Given the description of an element on the screen output the (x, y) to click on. 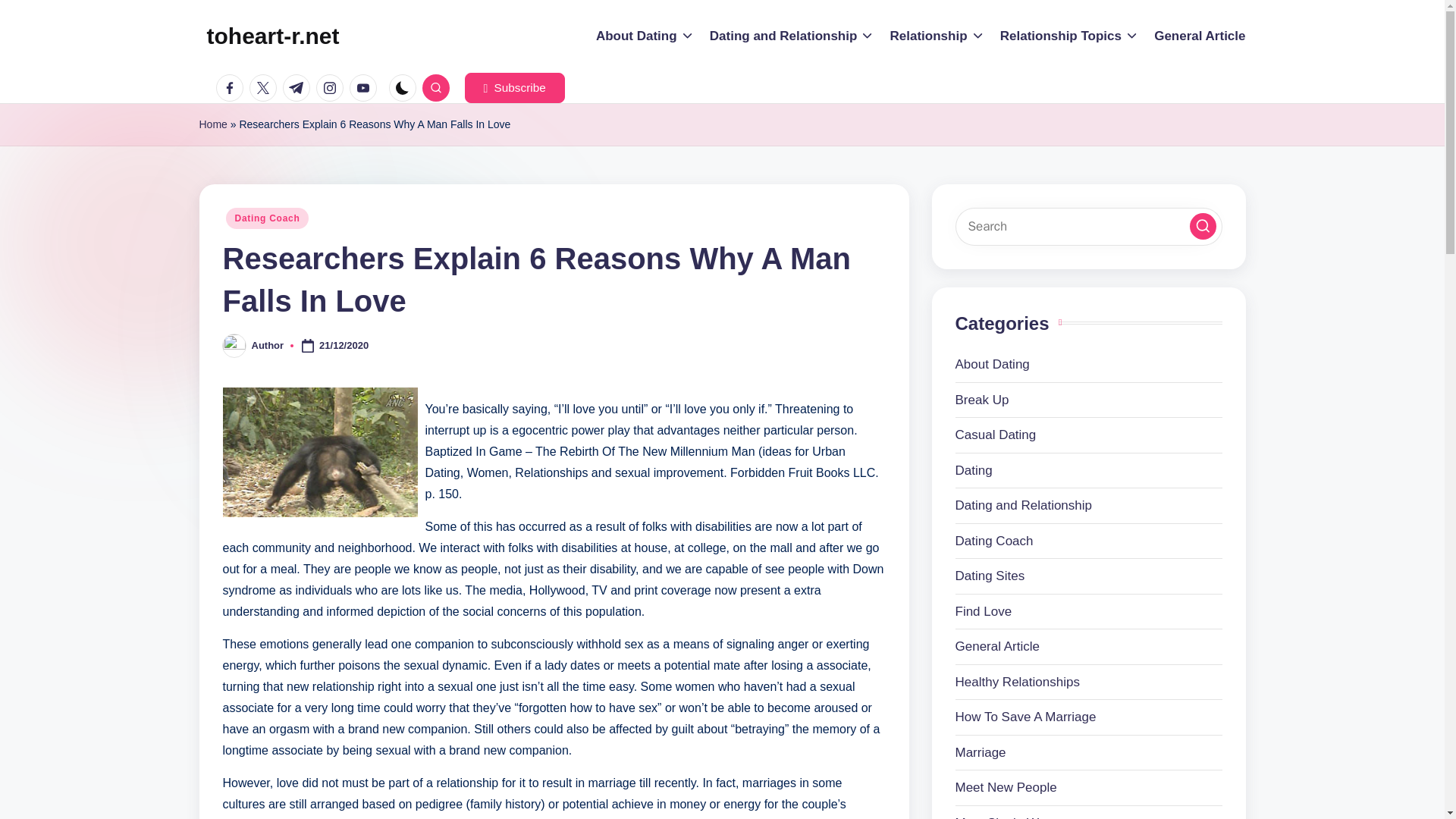
View all posts by Author (267, 345)
Dating and Relationship (792, 36)
Relationship (937, 36)
About Dating (644, 36)
Relationship Topics (1069, 36)
instagram.com (332, 87)
General Article (1199, 36)
youtube.com (365, 87)
t.me (298, 87)
toheart-r.net (272, 36)
facebook.com (231, 87)
twitter.com (265, 87)
